Given the description of an element on the screen output the (x, y) to click on. 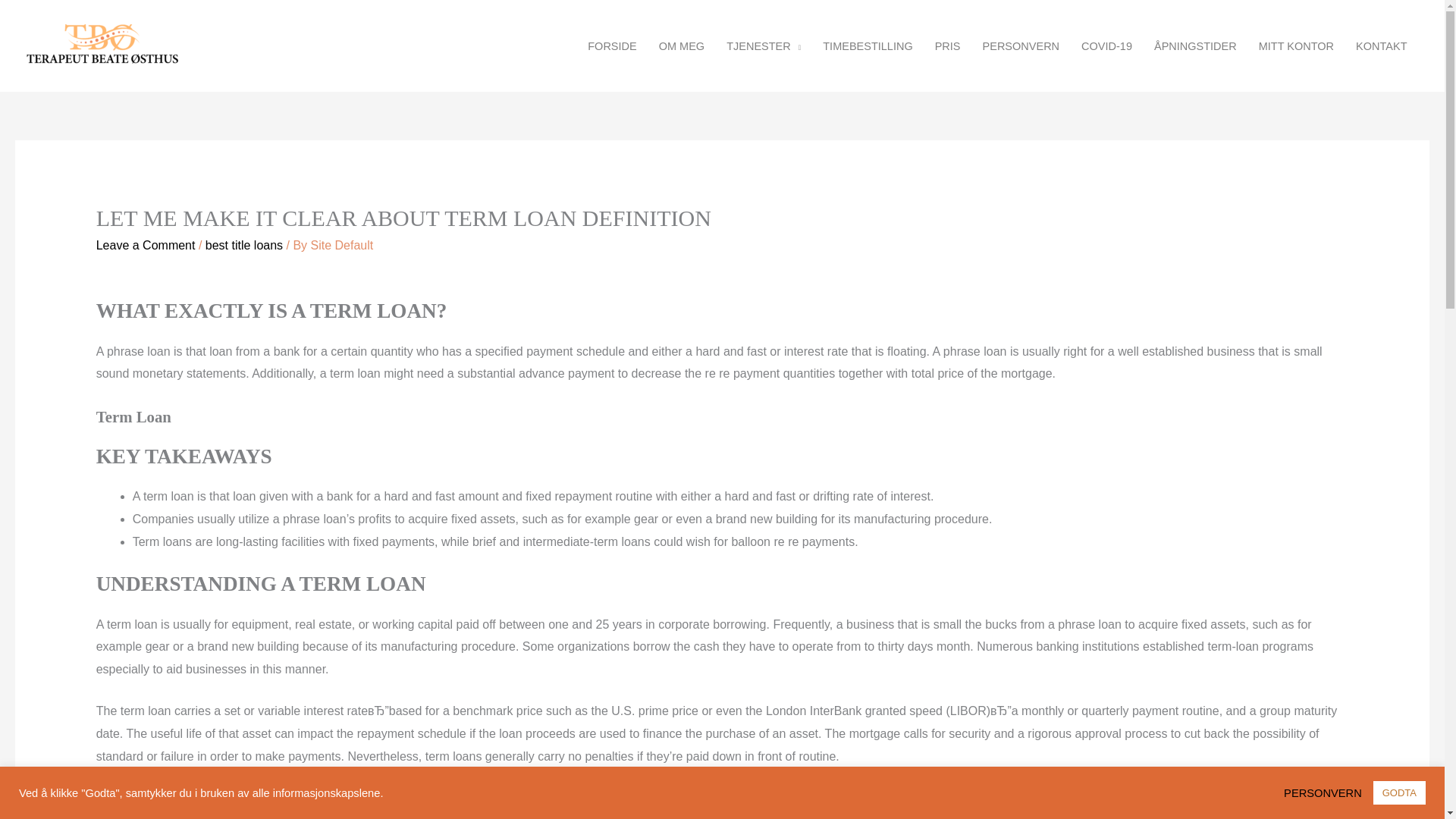
KONTAKT (1381, 45)
best title loans (243, 245)
Site Default (342, 245)
TIMEBESTILLING (867, 45)
GODTA (1399, 792)
COVID-19 (1106, 45)
PERSONVERN (1327, 792)
OM MEG (680, 45)
FORSIDE (611, 45)
Leave a Comment (145, 245)
